Given the description of an element on the screen output the (x, y) to click on. 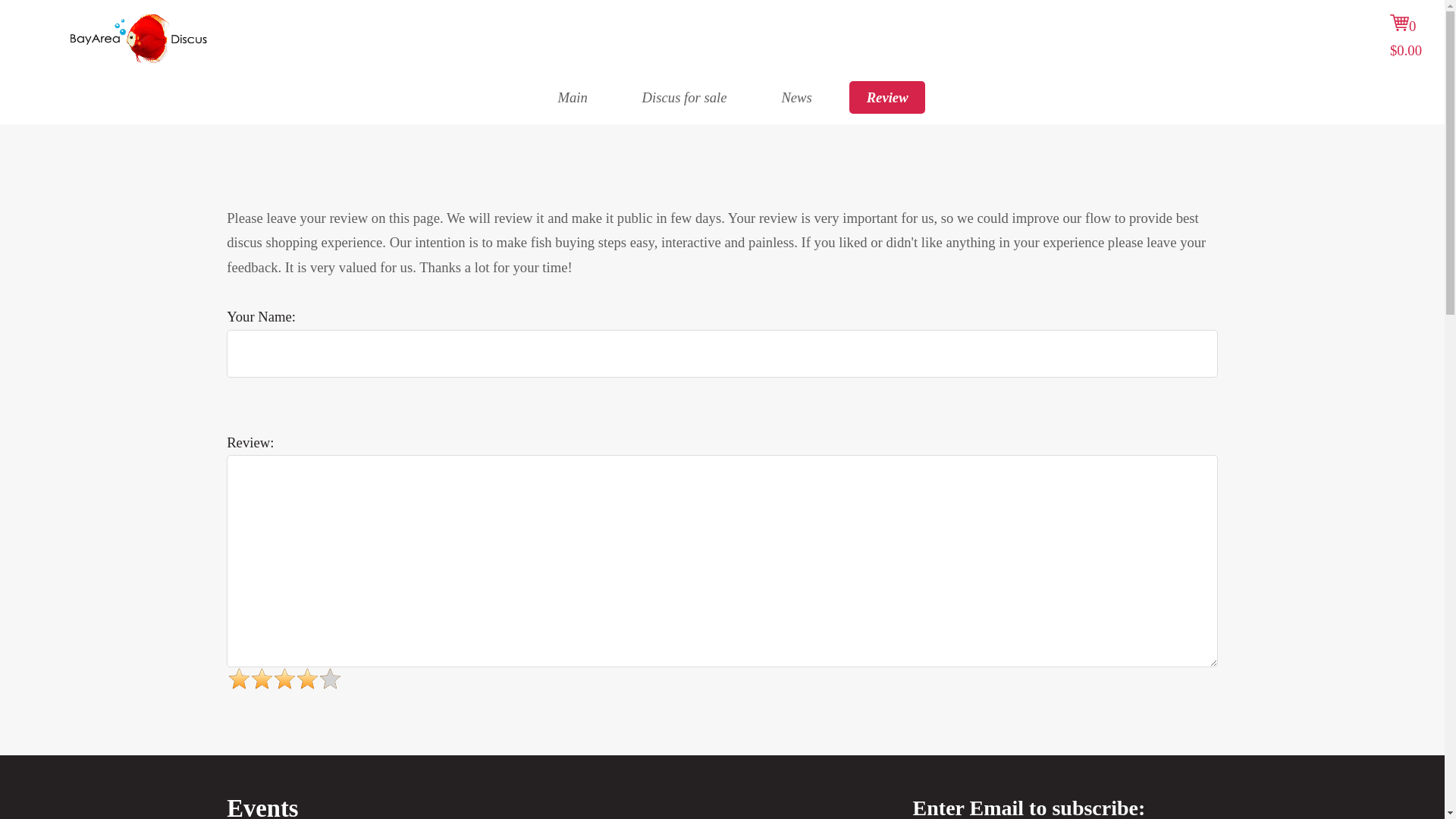
Discus for sale (684, 97)
Main (572, 97)
Review (886, 97)
News (796, 97)
